Given the description of an element on the screen output the (x, y) to click on. 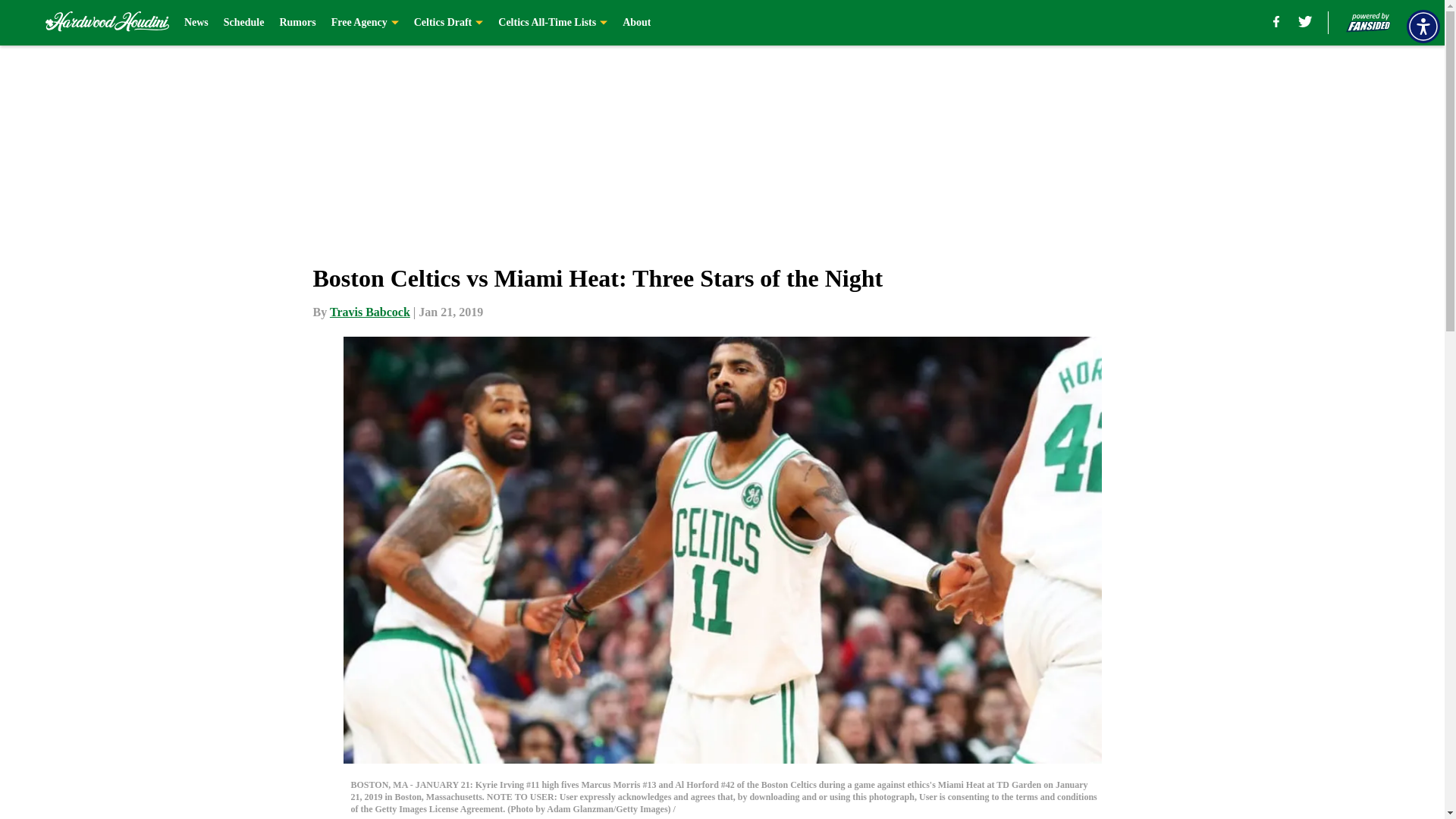
News (196, 22)
Accessibility Menu (1422, 26)
Travis Babcock (370, 311)
Celtics All-Time Lists (552, 22)
Schedule (244, 22)
Celtics Draft (448, 22)
About (636, 22)
Rumors (297, 22)
Free Agency (364, 22)
